Given the description of an element on the screen output the (x, y) to click on. 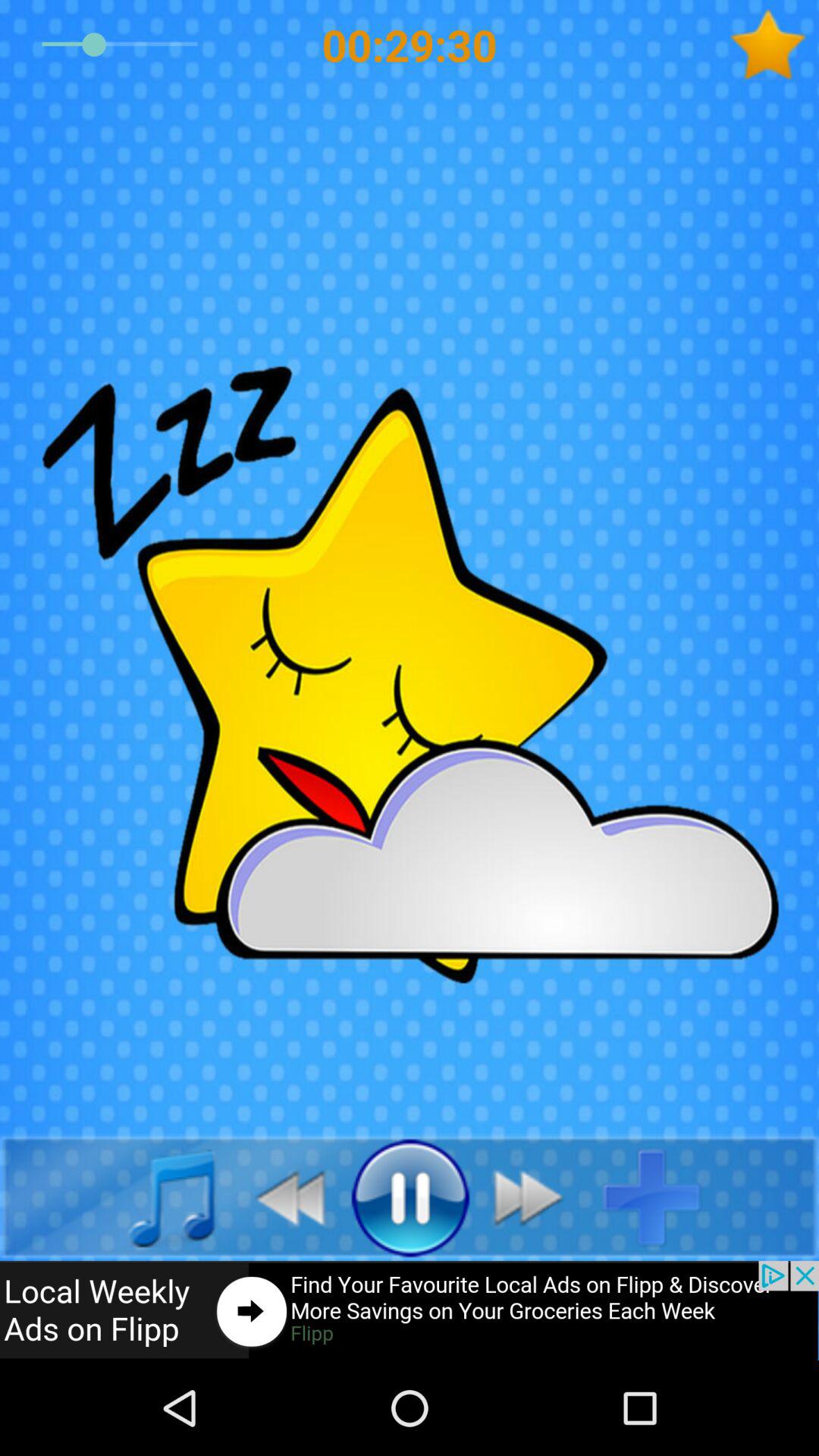
toggle advertisement (409, 1310)
